Given the description of an element on the screen output the (x, y) to click on. 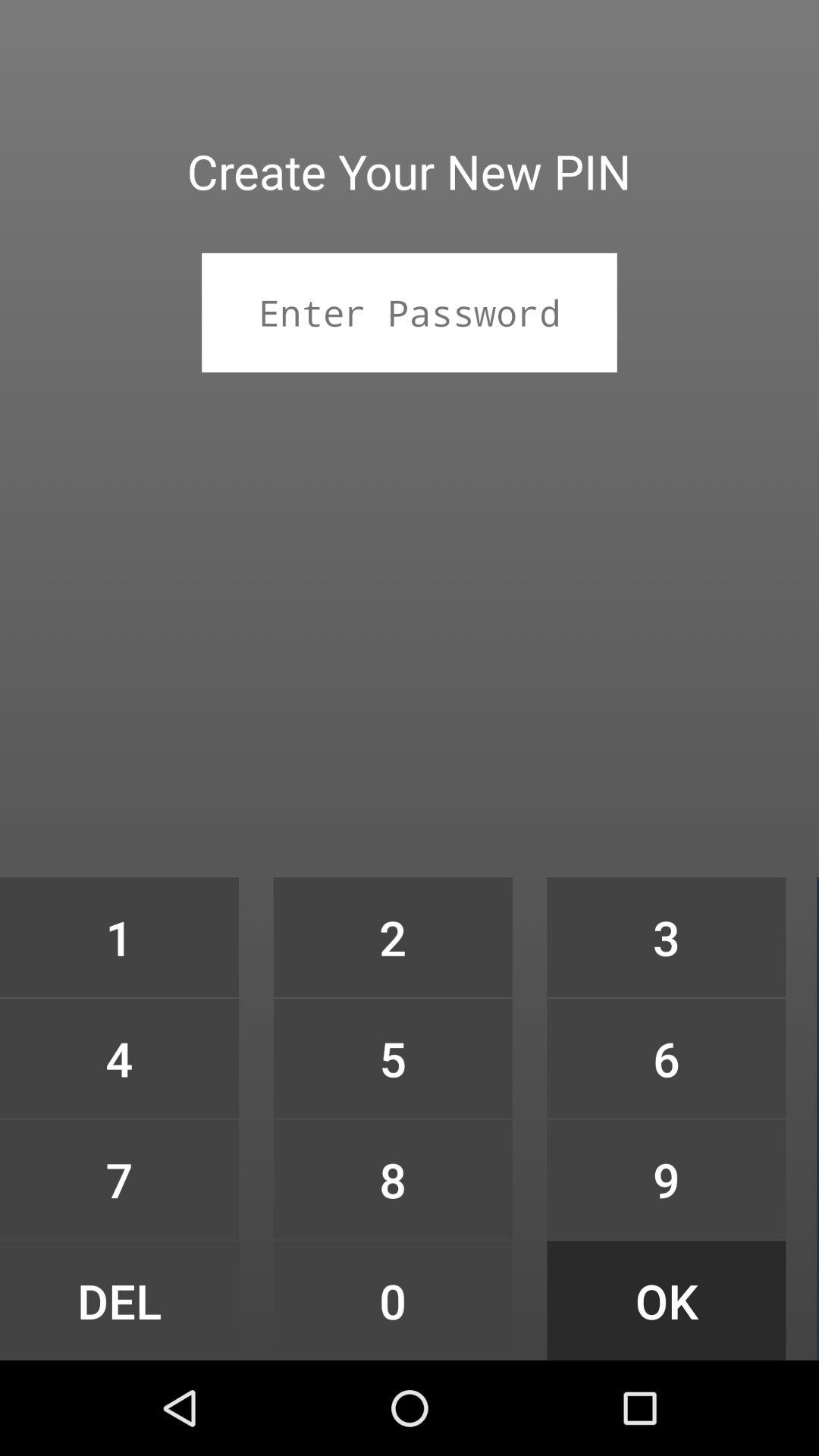
tap the icon to the left of 9 (392, 1300)
